Given the description of an element on the screen output the (x, y) to click on. 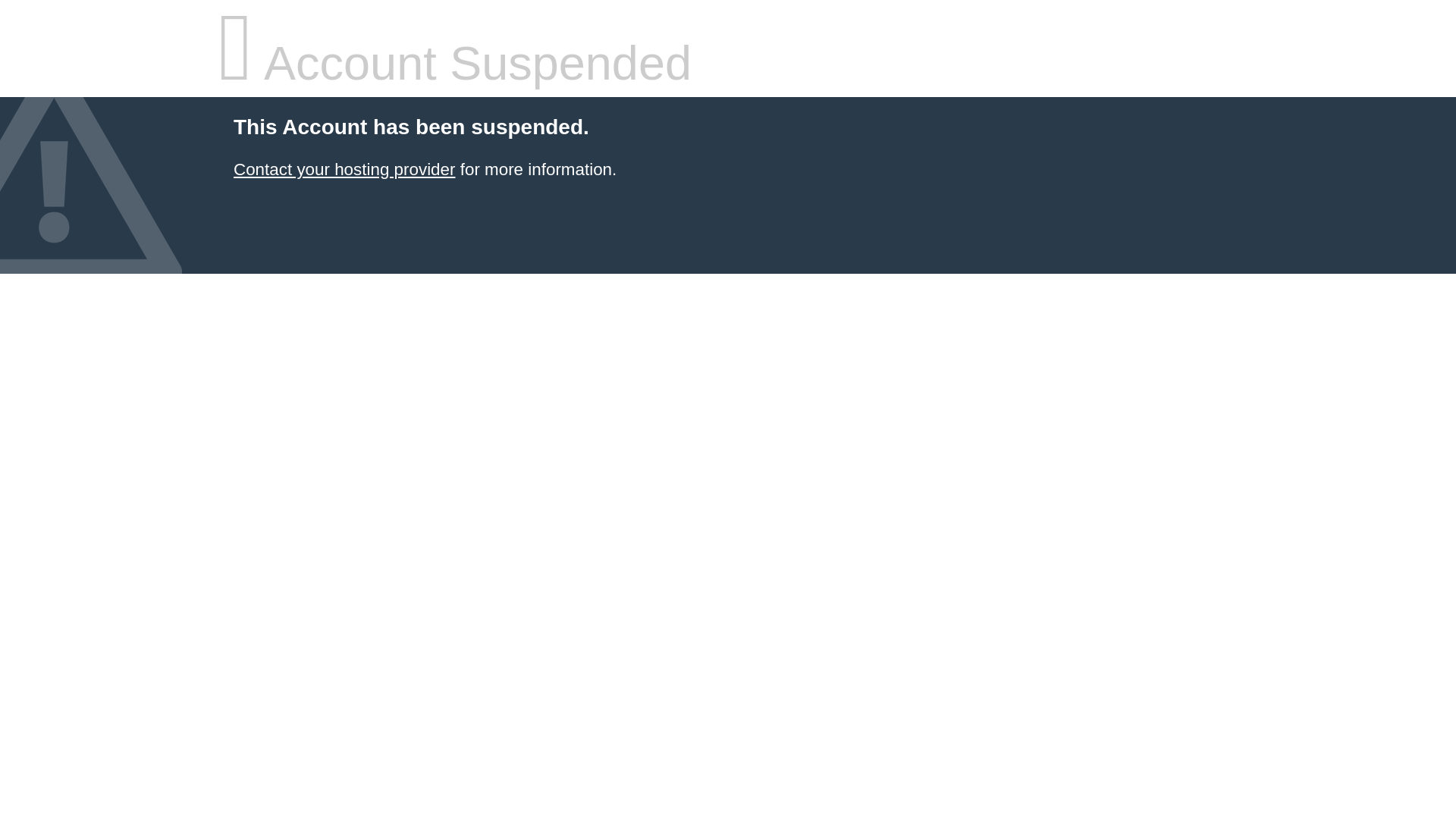
Contact your hosting provider Element type: text (344, 169)
